Given the description of an element on the screen output the (x, y) to click on. 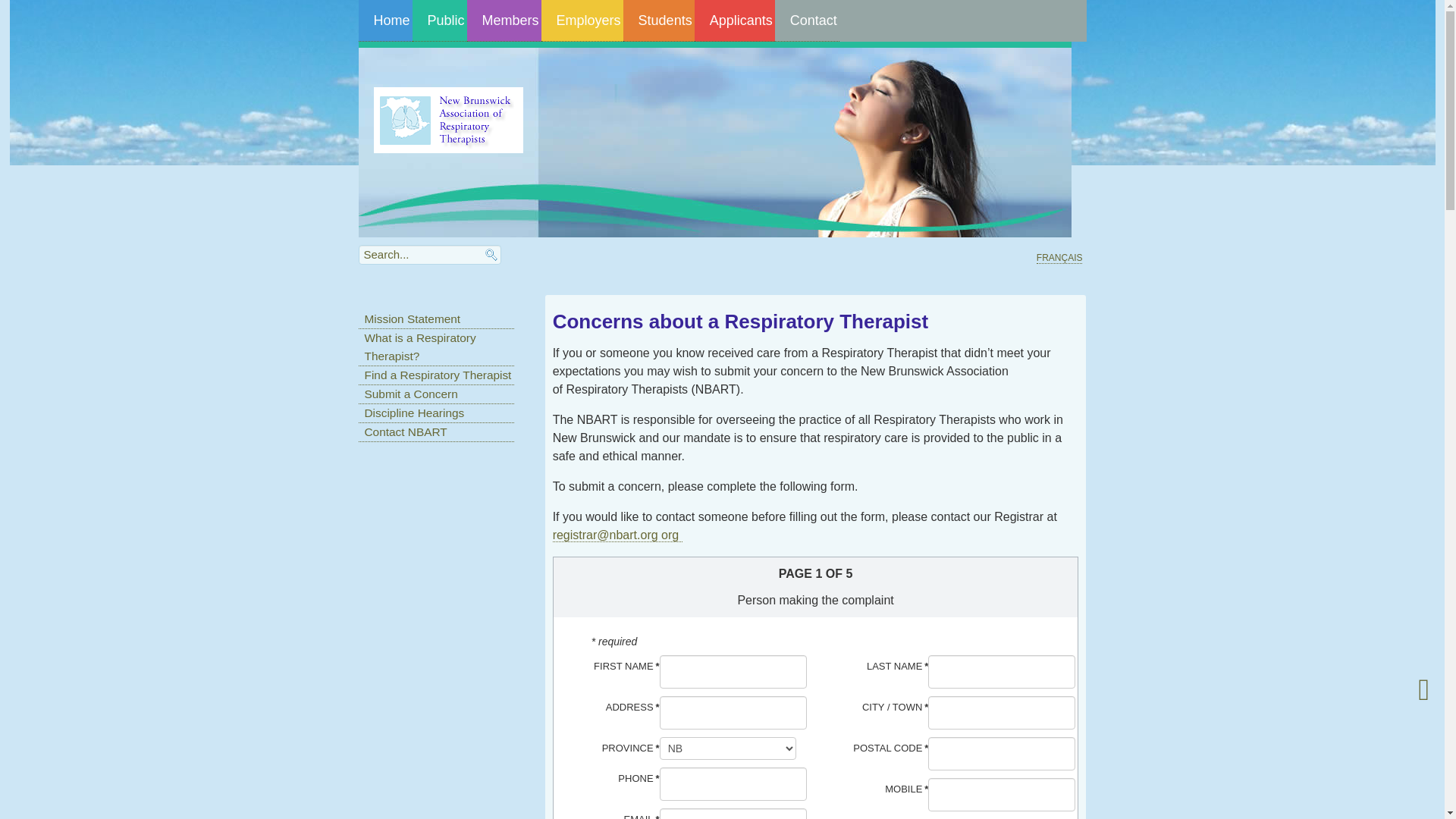
Students Element type: text (658, 20)
Public Element type: text (439, 20)
Submit a Concern Element type: text (435, 394)
Contact NBART Element type: text (435, 432)
Members Element type: text (504, 20)
registrar@nbart.org org  Element type: text (617, 535)
Applicants Element type: text (734, 20)
Home Element type: text (384, 20)
What is a Respiratory Therapist? Element type: text (435, 347)
Find a Respiratory Therapist Element type: text (435, 375)
Discipline Hearings Element type: text (435, 413)
Contact Element type: text (807, 20)
Employers Element type: text (582, 20)
Mission Statement Element type: text (435, 319)
